Given the description of an element on the screen output the (x, y) to click on. 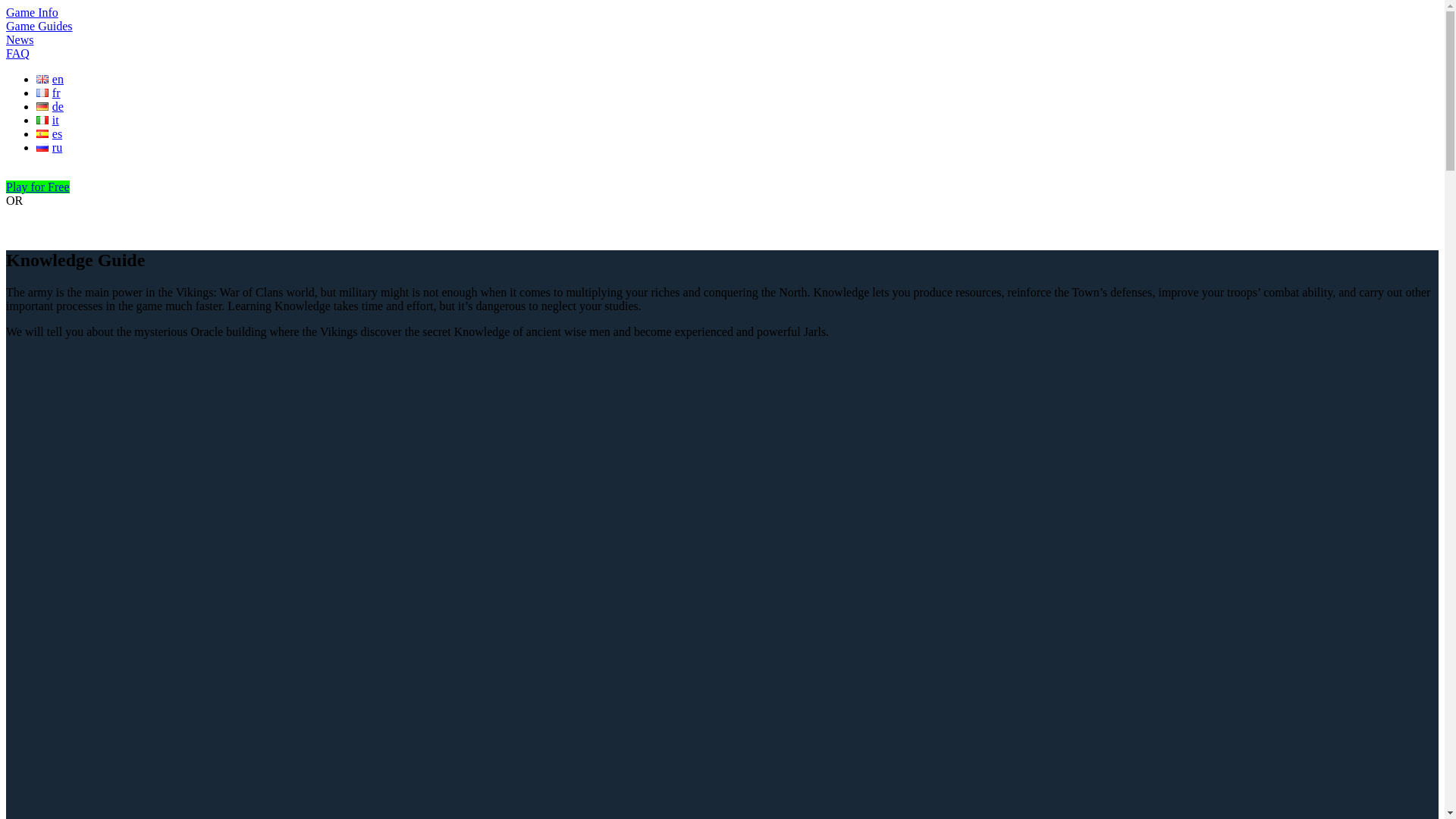
News (19, 39)
fr (47, 92)
it (47, 119)
de (50, 106)
en (50, 78)
FAQ (17, 52)
Game Guides (38, 25)
Game Info (31, 11)
Play for Free (37, 186)
es (49, 133)
